Given the description of an element on the screen output the (x, y) to click on. 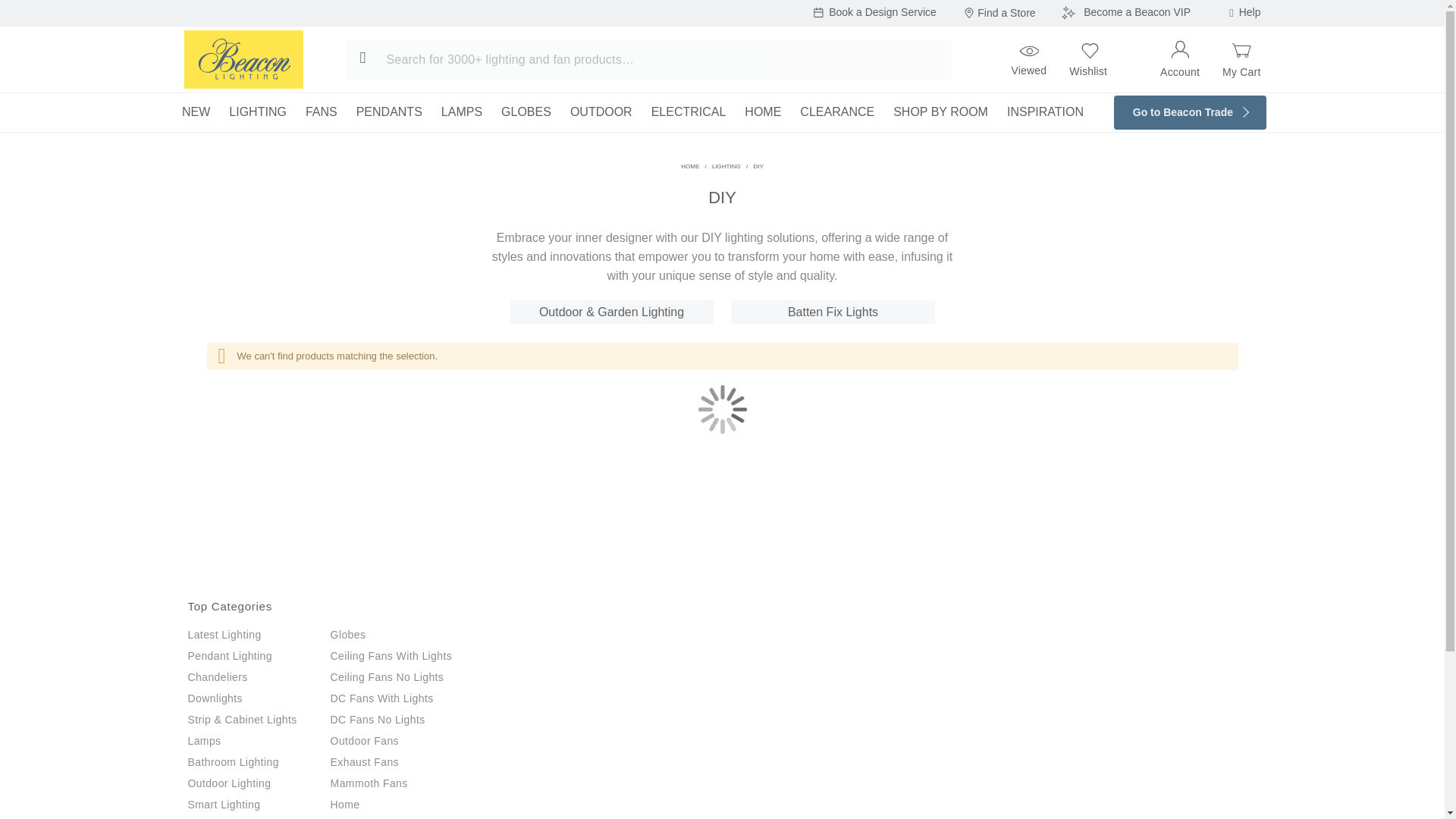
Account (1179, 58)
LIGHTING (257, 111)
Find a Store (997, 12)
My Cart (1241, 59)
Become a Beacon VIP (1126, 12)
Help (1249, 12)
Go to Home Page (690, 165)
